Given the description of an element on the screen output the (x, y) to click on. 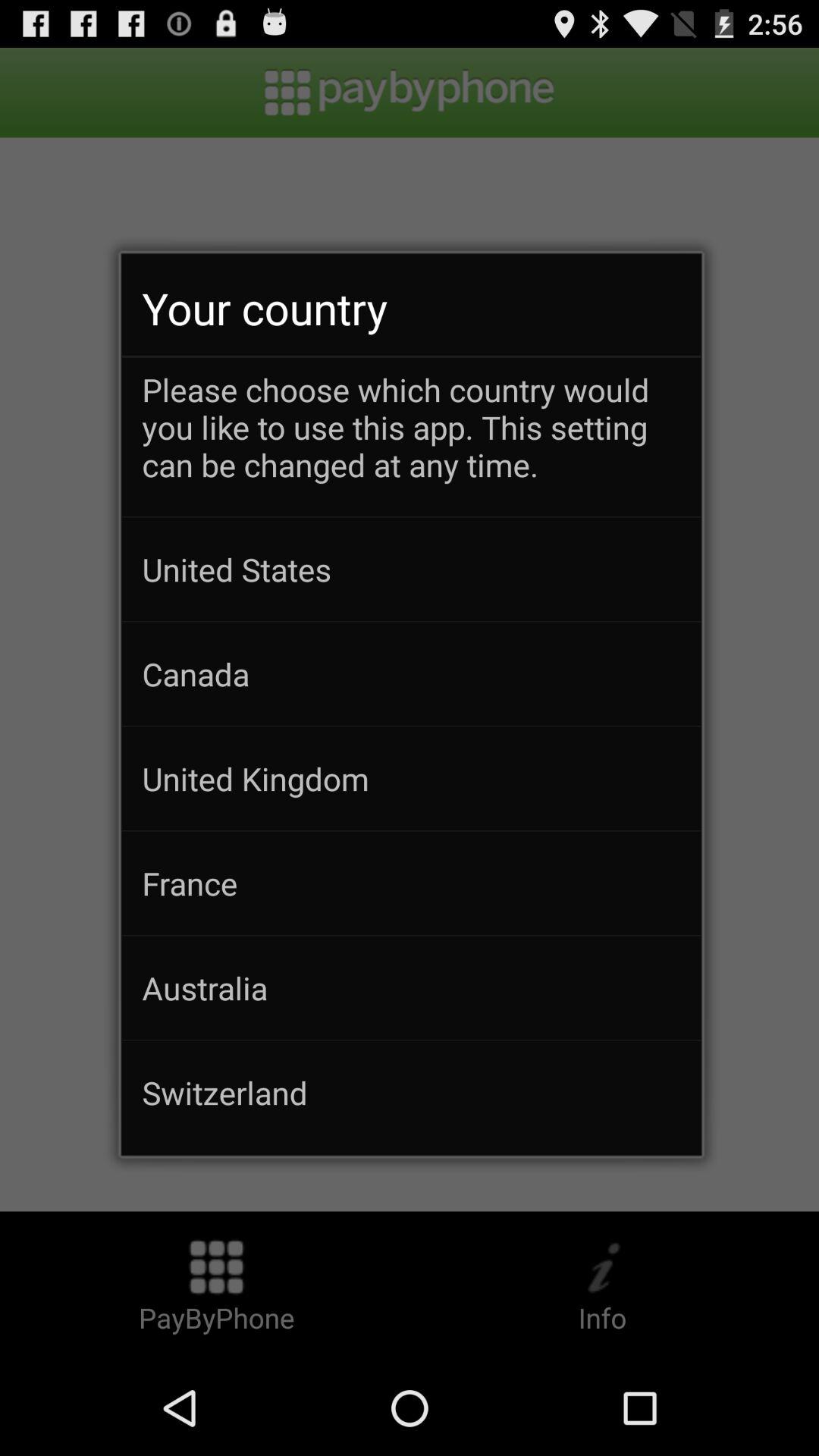
flip to switzerland (411, 1092)
